Given the description of an element on the screen output the (x, y) to click on. 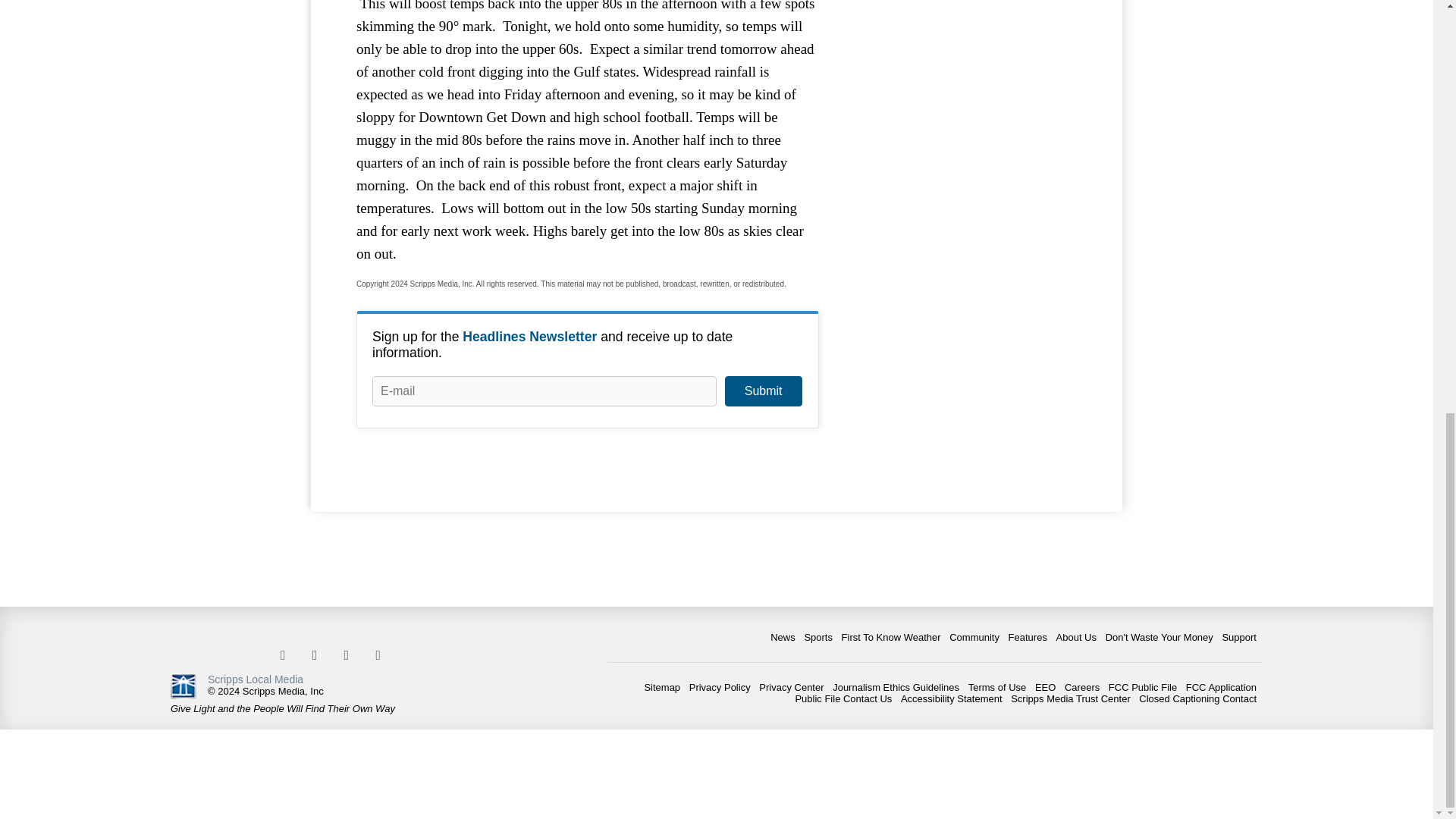
Submit (763, 390)
